Given the description of an element on the screen output the (x, y) to click on. 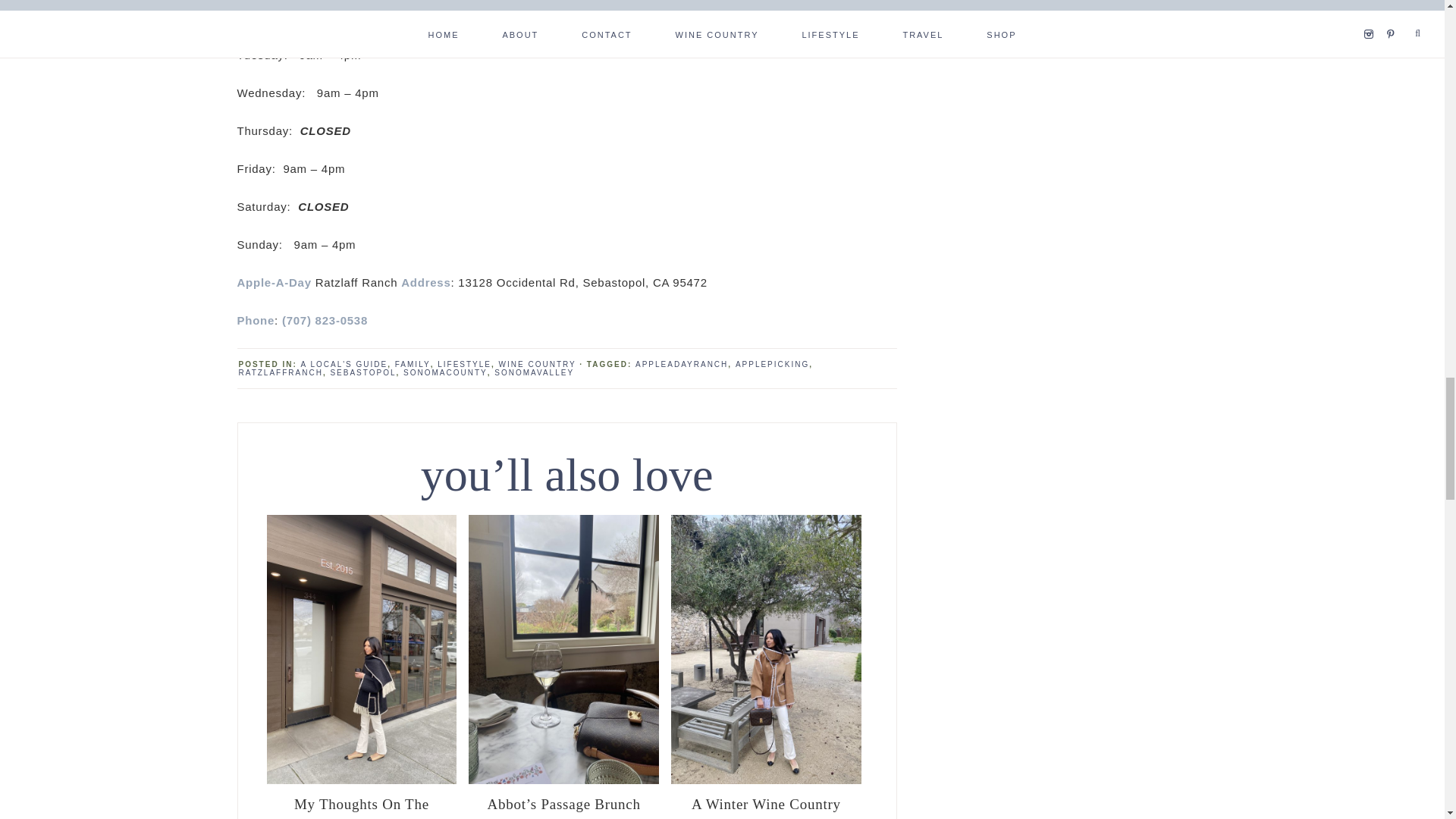
Permanent Link to My Thoughts On The Toteme Scarf Coat (361, 779)
Permanent Link to A Winter Wine Country Look (766, 779)
Apple-A-Day (273, 282)
Permanent Link to My Thoughts On The Toteme Scarf Coat (361, 805)
Permanent Link to A Winter Wine Country Look (766, 805)
Address (425, 282)
